Given the description of an element on the screen output the (x, y) to click on. 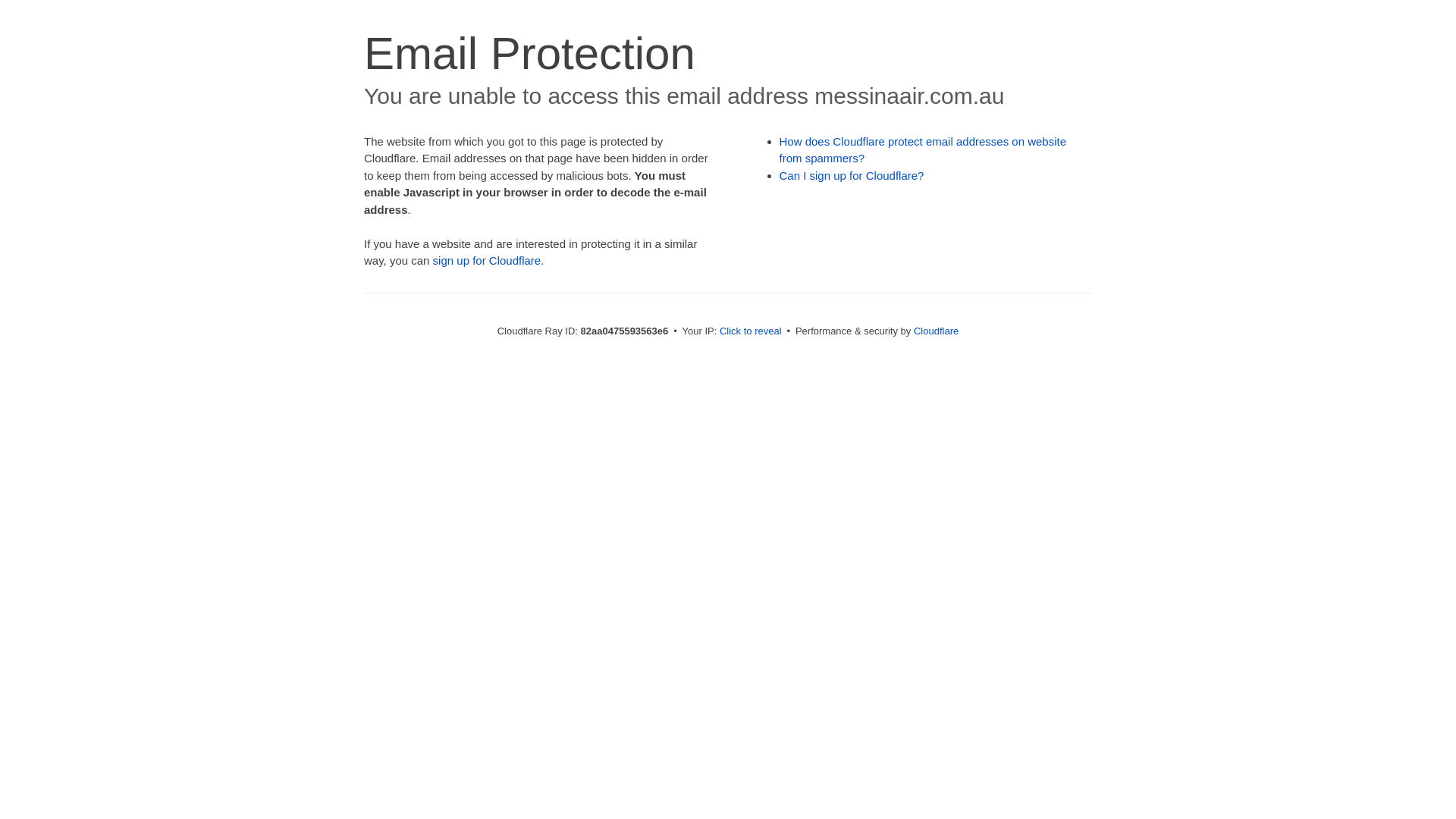
Cloudflare Element type: text (935, 330)
Click to reveal Element type: text (750, 330)
Can I sign up for Cloudflare? Element type: text (851, 175)
sign up for Cloudflare Element type: text (487, 260)
